Given the description of an element on the screen output the (x, y) to click on. 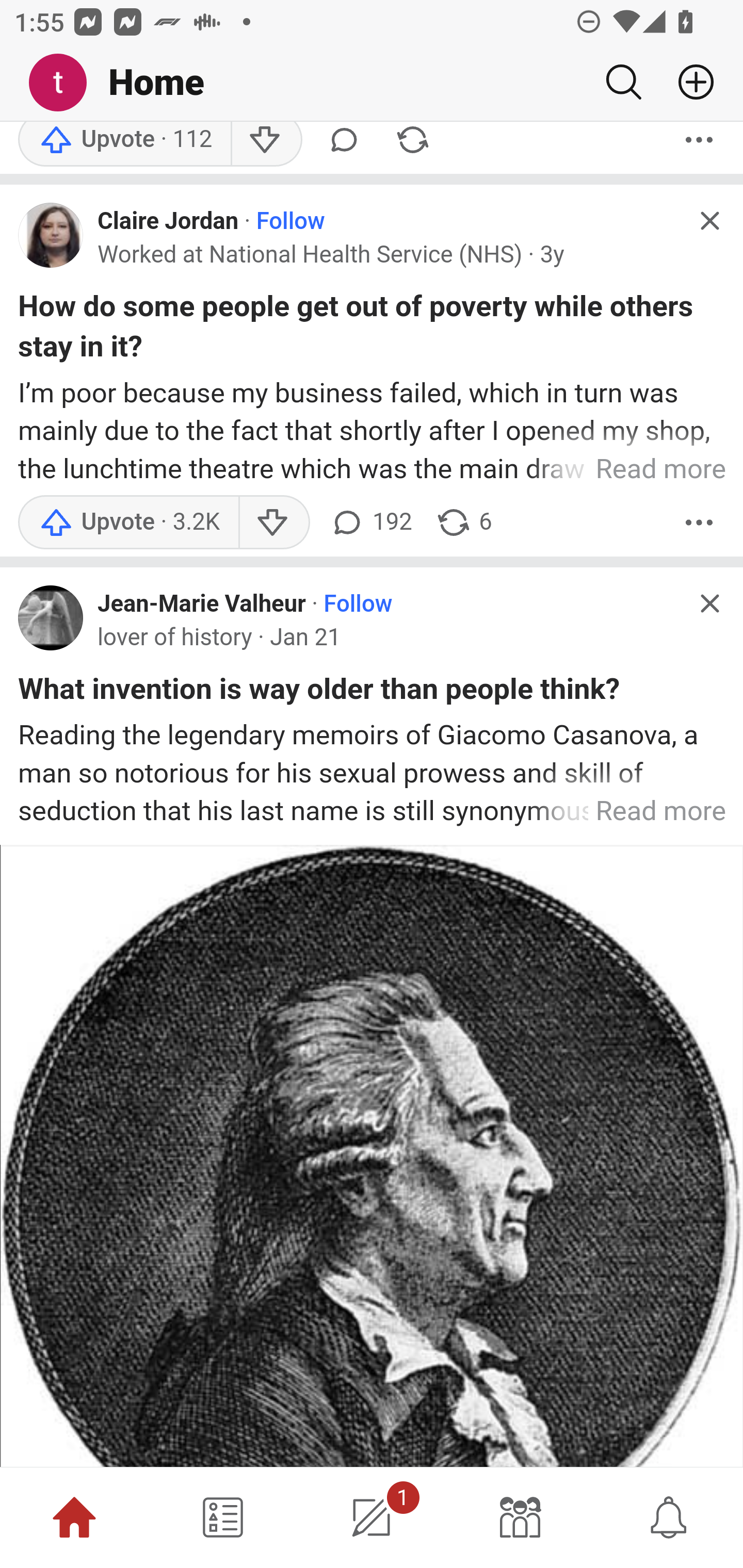
Me (64, 83)
Search (623, 82)
Add (688, 82)
Upvote (124, 145)
Downvote (266, 145)
Comment (343, 145)
Share (412, 145)
More (699, 145)
Hide (709, 221)
Profile photo for Claire Jordan (50, 235)
Claire Jordan (168, 221)
Follow (290, 221)
Upvote (127, 523)
Downvote (273, 523)
192 comments (369, 523)
6 shares (463, 523)
More (699, 523)
Hide (709, 604)
Profile photo for Jean-Marie Valheur (50, 618)
Jean-Marie Valheur (201, 606)
Follow (358, 606)
1 (371, 1517)
